Given the description of an element on the screen output the (x, y) to click on. 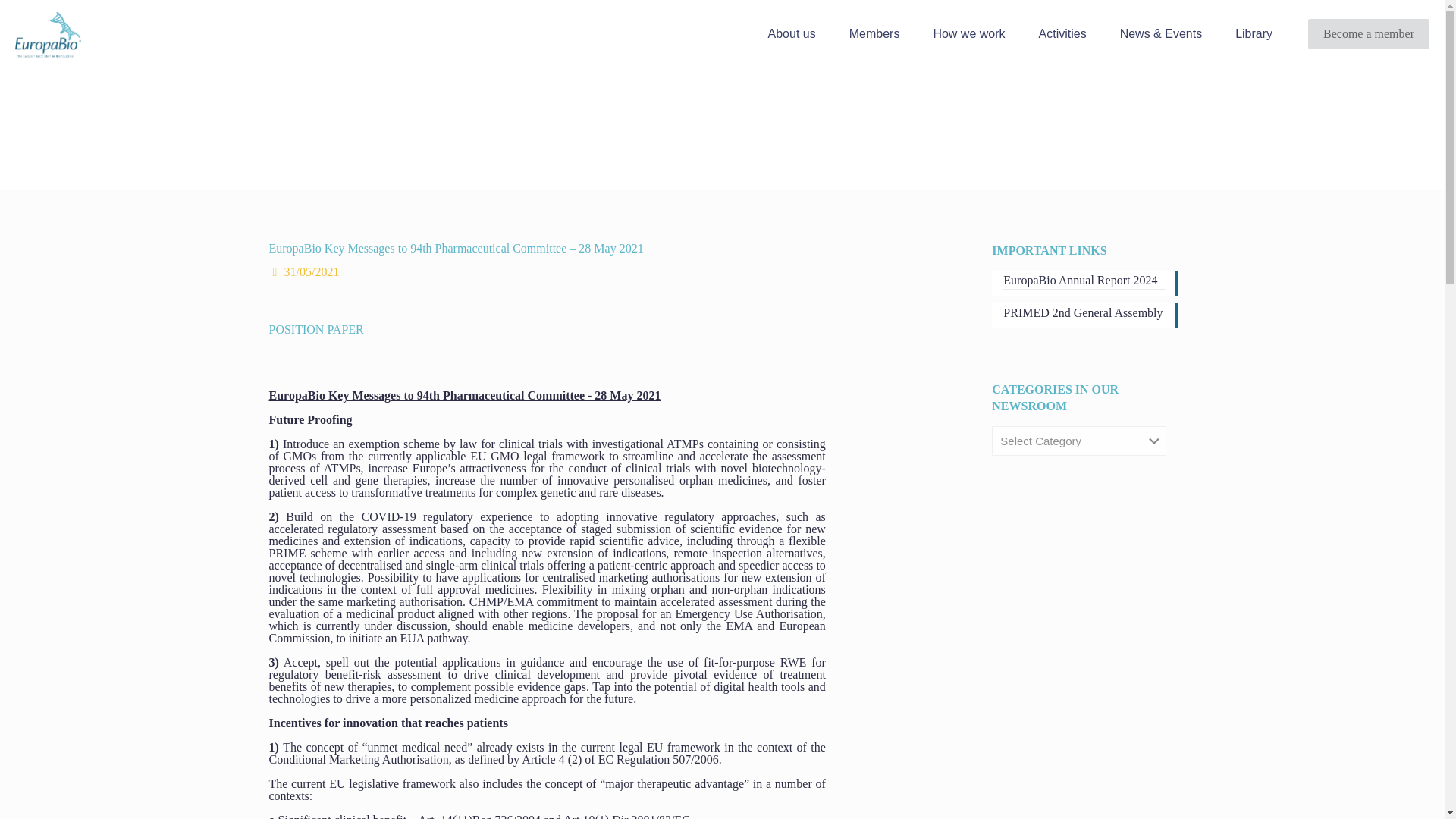
Library (1253, 34)
Activities (1062, 34)
Members (874, 34)
Europabio (47, 33)
How we work (968, 34)
Become a member (1368, 33)
About us (791, 34)
